Given the description of an element on the screen output the (x, y) to click on. 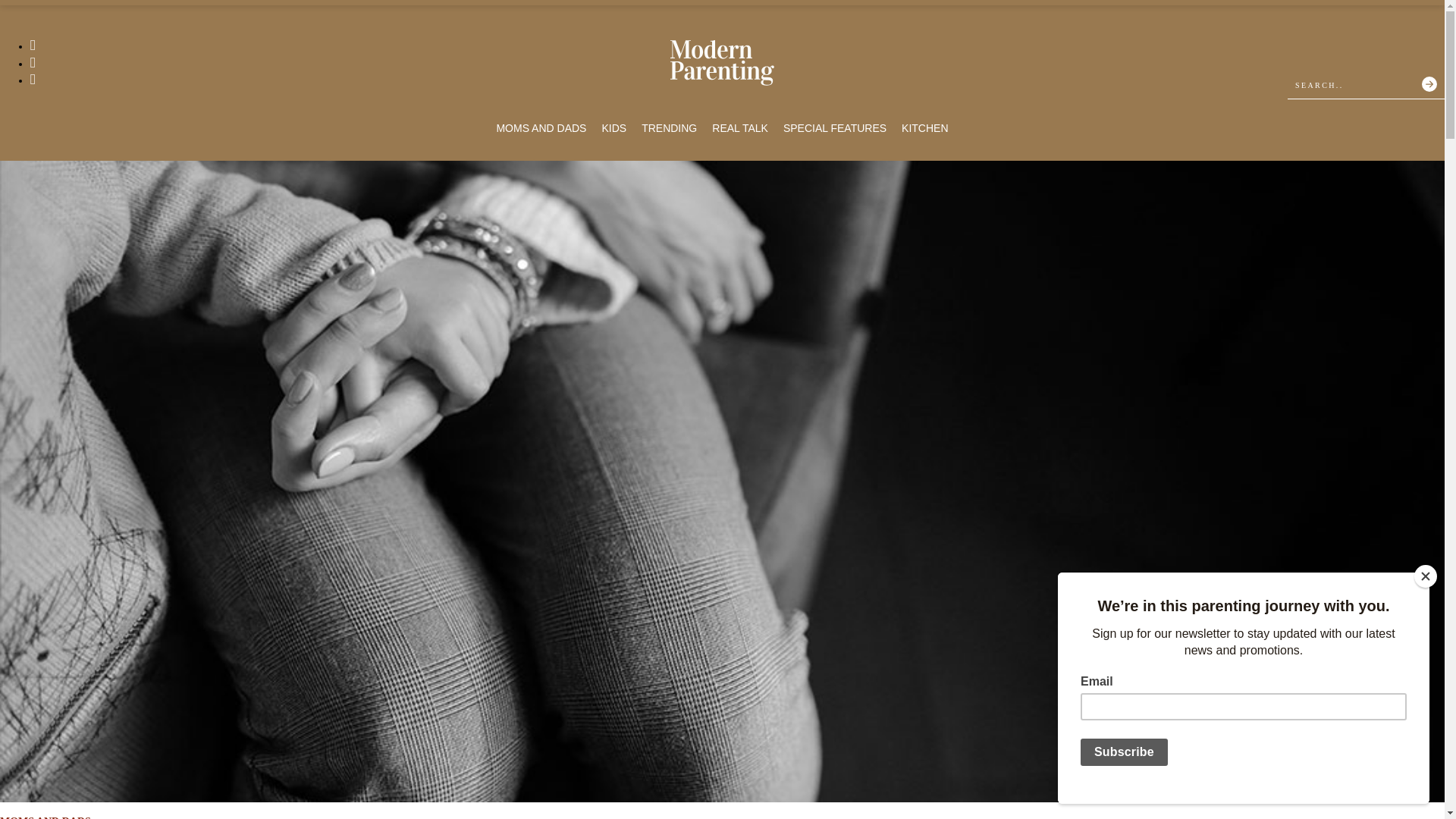
TRENDING (668, 128)
MOMS AND DADS (540, 128)
KIDS (613, 128)
SPECIAL FEATURES (834, 128)
REAL TALK (740, 128)
KITCHEN (924, 128)
